Given the description of an element on the screen output the (x, y) to click on. 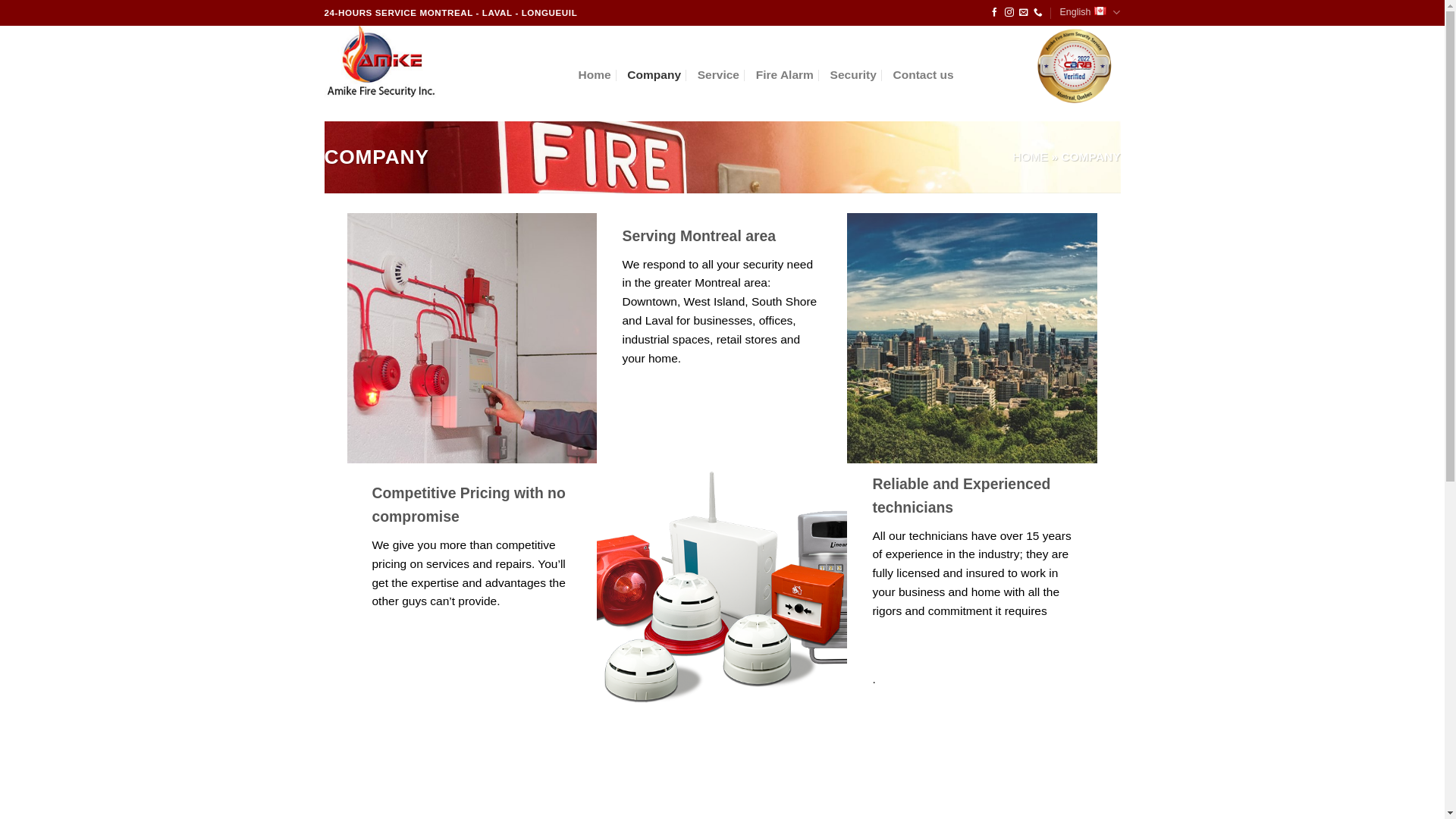
Home Element type: text (593, 74)
HOME Element type: text (1030, 156)
Service Element type: text (718, 74)
English Element type: text (1090, 12)
Company Element type: text (653, 74)
Security Element type: text (853, 74)
Contact us Element type: text (923, 74)
Fire Alarm Element type: text (784, 74)
Amike Fire Alarm Element type: hover (439, 61)
